Given the description of an element on the screen output the (x, y) to click on. 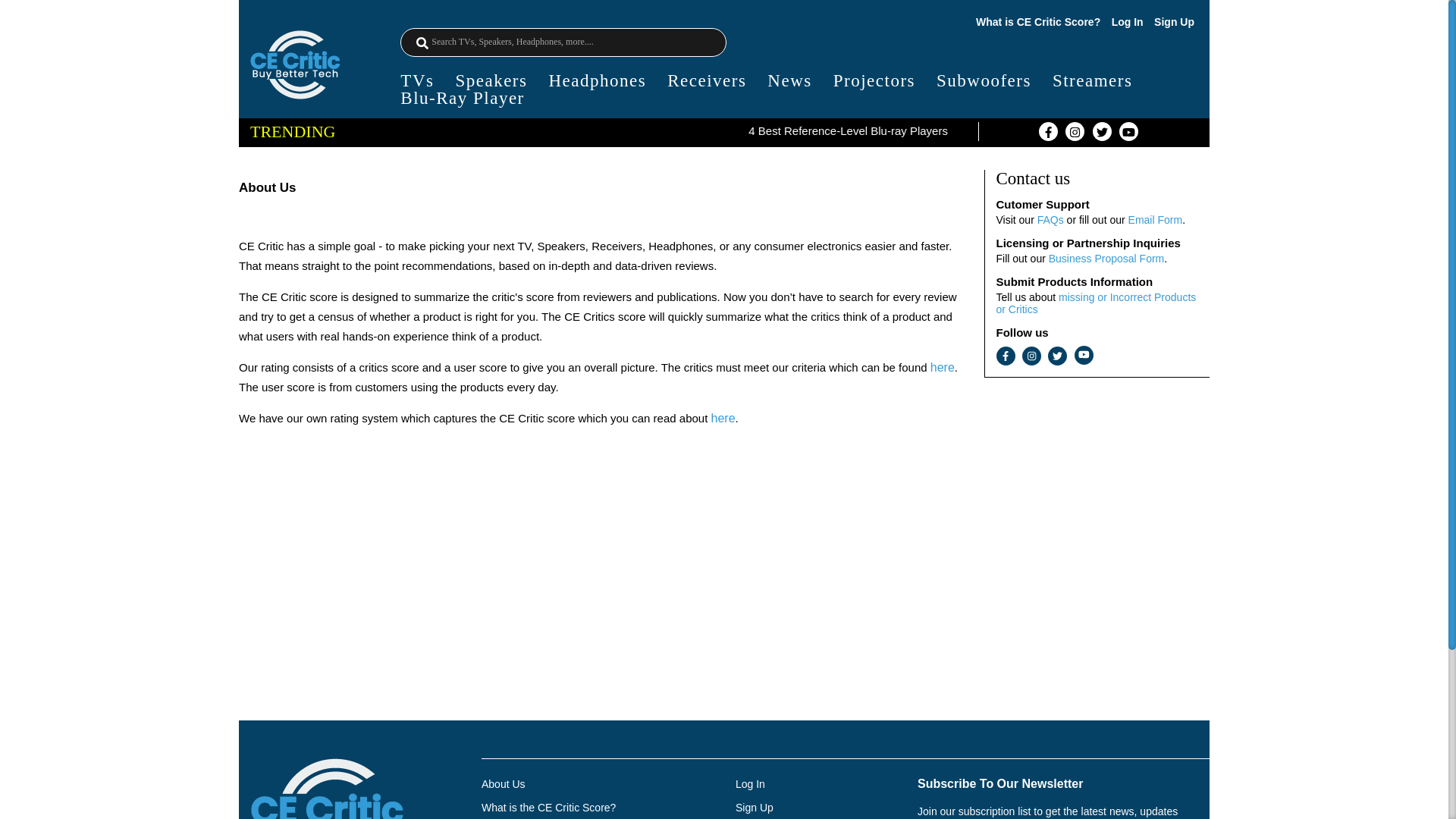
Sign Up (1173, 21)
Instagram (1031, 355)
Subwoofers (983, 80)
YouTube (1083, 354)
YouTube (1128, 131)
Blu-Ray Player (462, 98)
Facebook (1004, 355)
Log In (1127, 21)
Instagram (1074, 131)
Click to log into account (750, 783)
Click to sign-up for an account (754, 807)
Receivers (705, 80)
Facebook (1048, 131)
Headphones (597, 80)
